Given the description of an element on the screen output the (x, y) to click on. 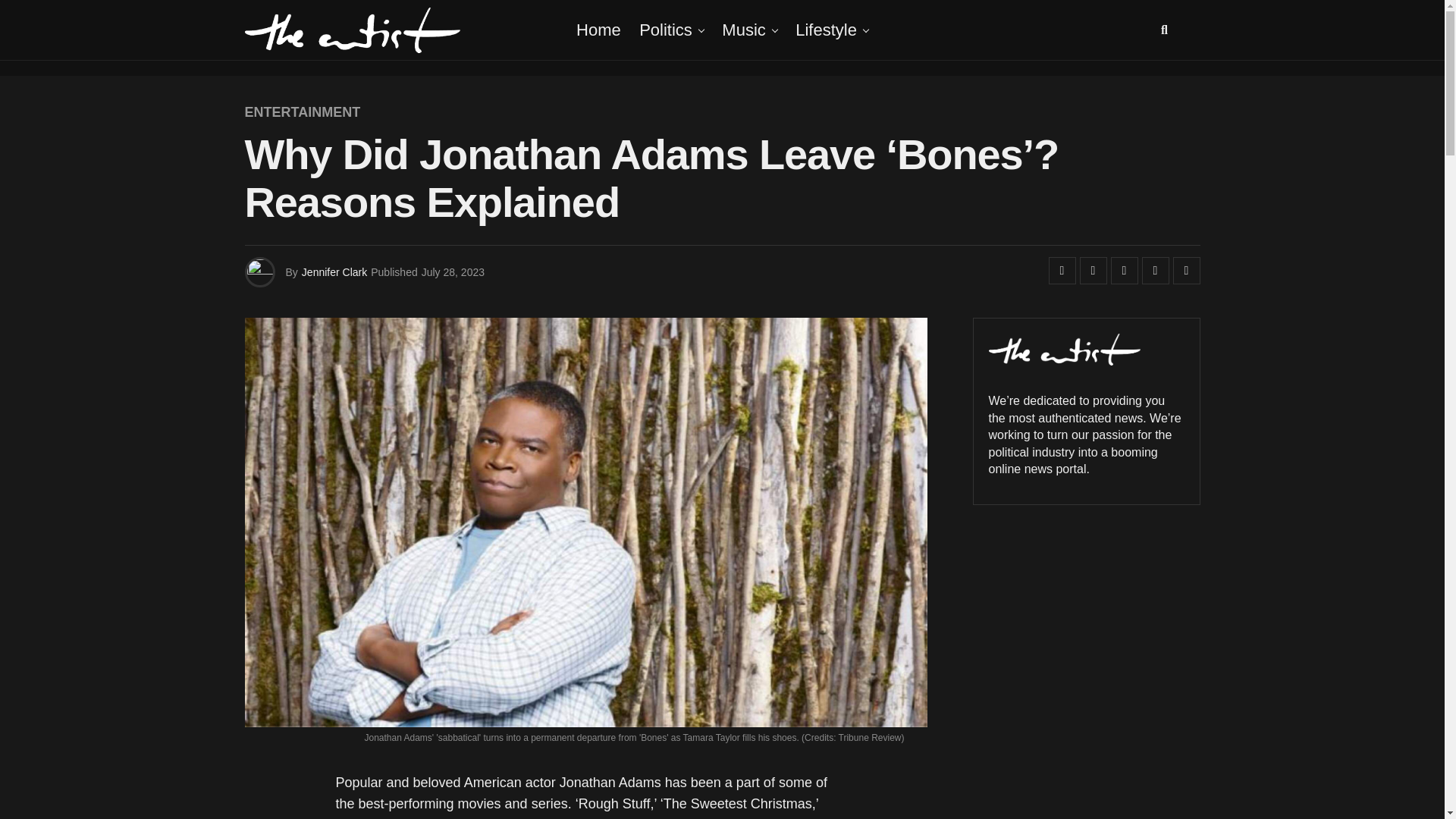
Share on Facebook (1061, 270)
Music (743, 30)
Politics (665, 30)
Lifestyle (825, 30)
Home (598, 30)
Tweet This Post (1093, 270)
Posts by Jennifer Clark (333, 272)
